Given the description of an element on the screen output the (x, y) to click on. 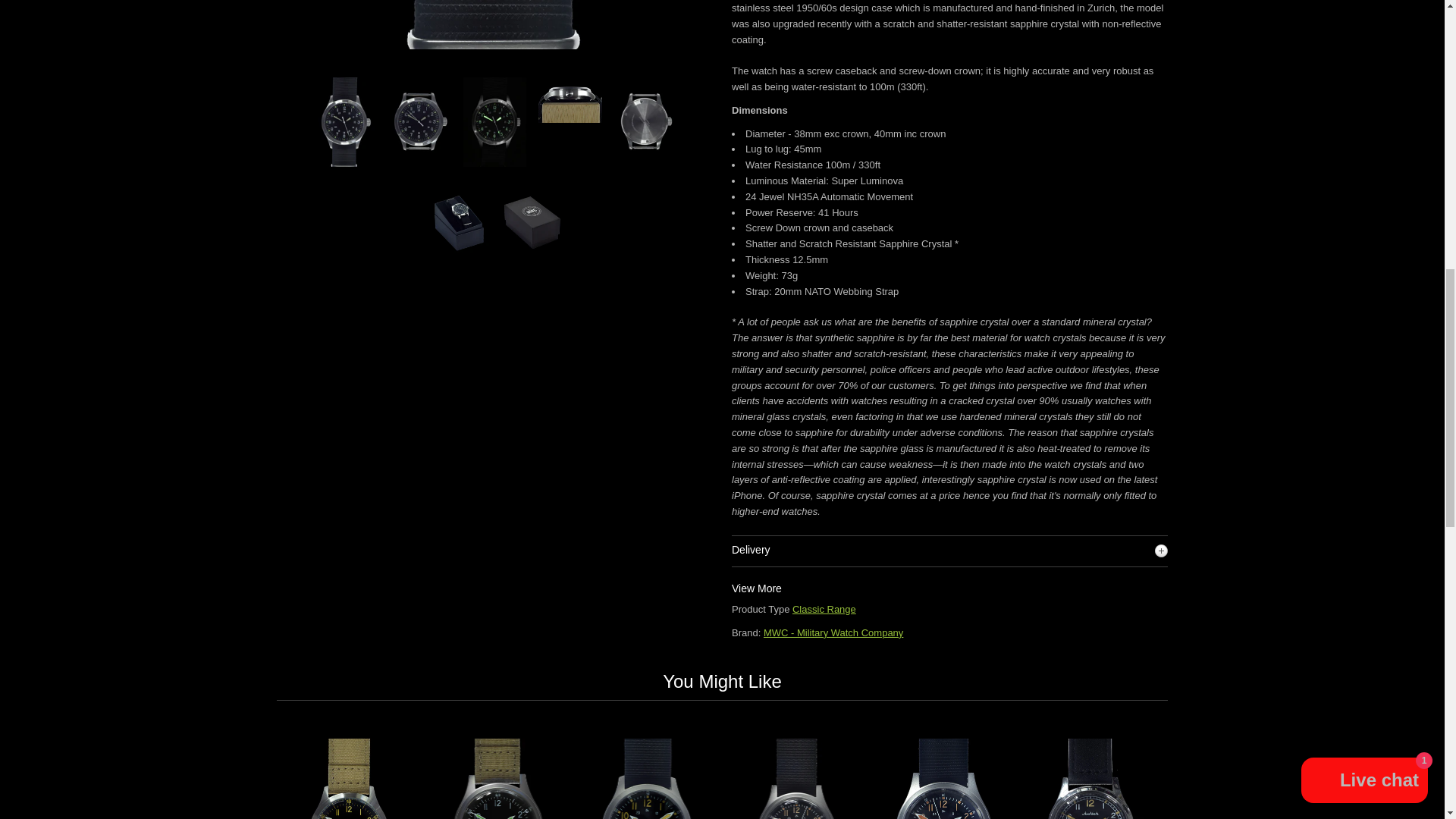
Classic Range (824, 609)
MWC - Military Watch Company (832, 632)
Delivery (949, 551)
Classic Range (824, 609)
MWC - Military Watch Company (832, 632)
